Given the description of an element on the screen output the (x, y) to click on. 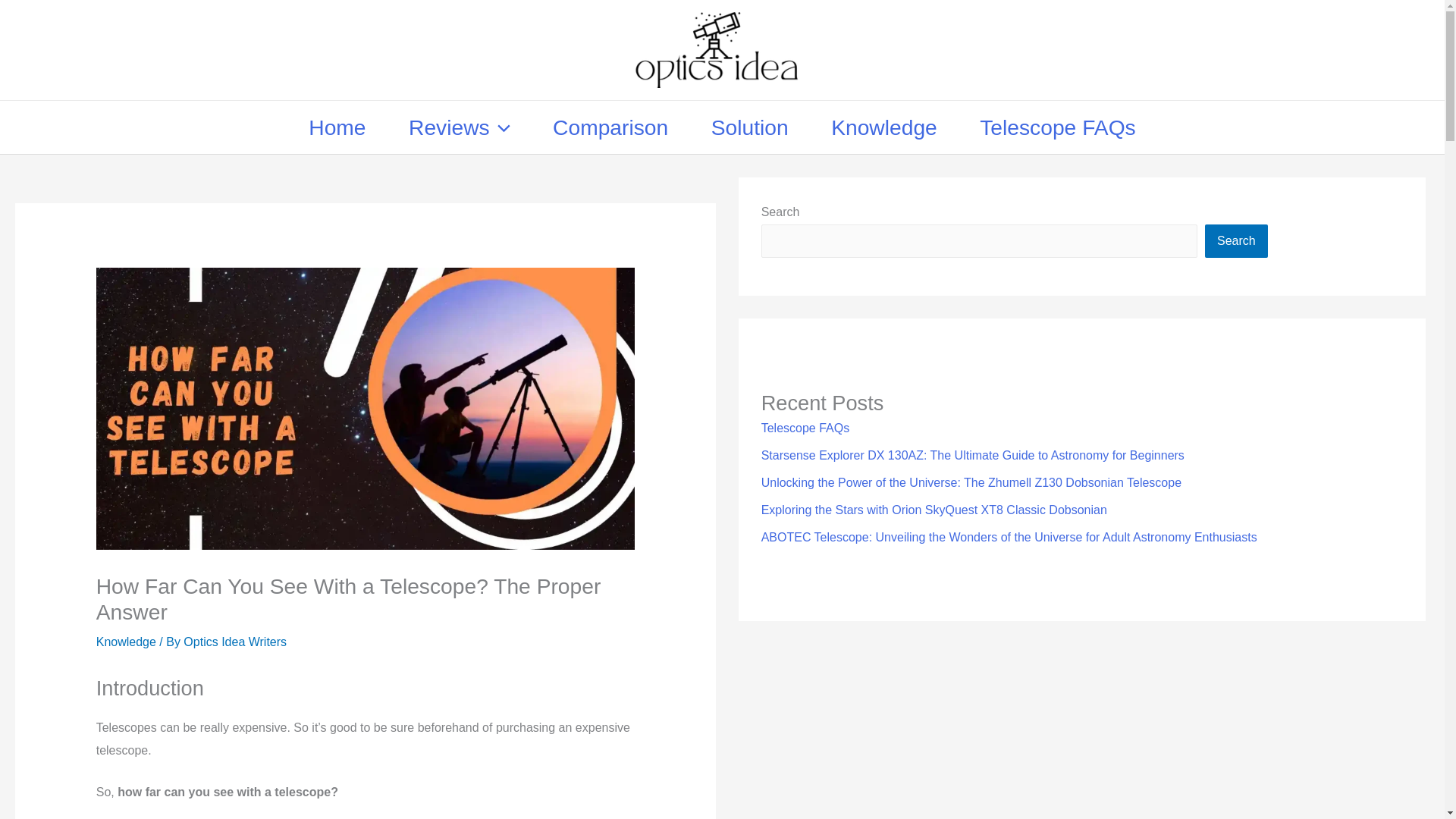
Knowledge (125, 641)
Comparison (610, 126)
Optics Idea Writers (234, 641)
Reviews (459, 126)
Knowledge (883, 126)
Solution (748, 126)
View all posts by Optics Idea Writers (234, 641)
Home (336, 126)
Telescope FAQs (1057, 126)
